Given the description of an element on the screen output the (x, y) to click on. 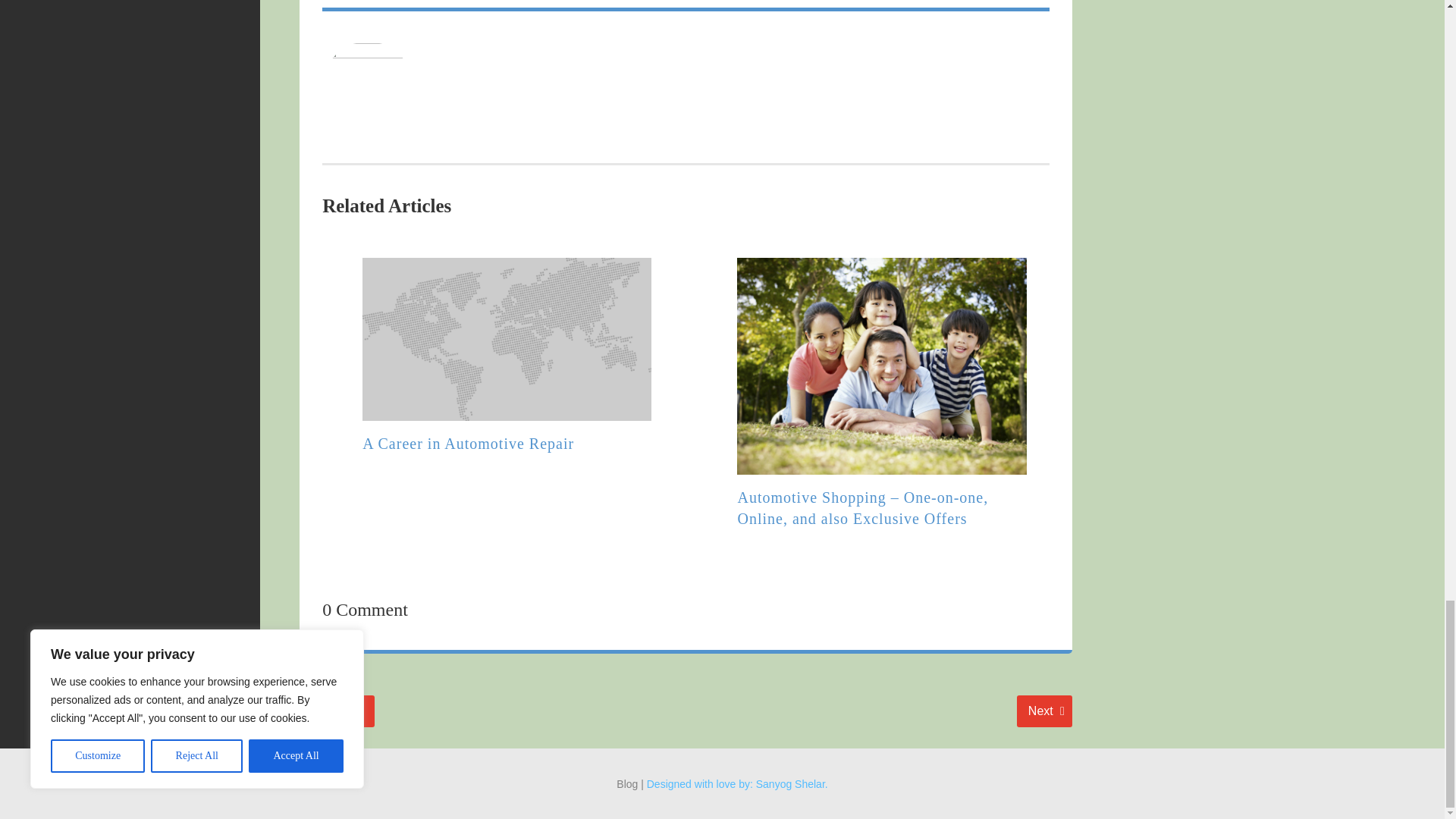
A Career in Automotive Repair (1043, 711)
